Given the description of an element on the screen output the (x, y) to click on. 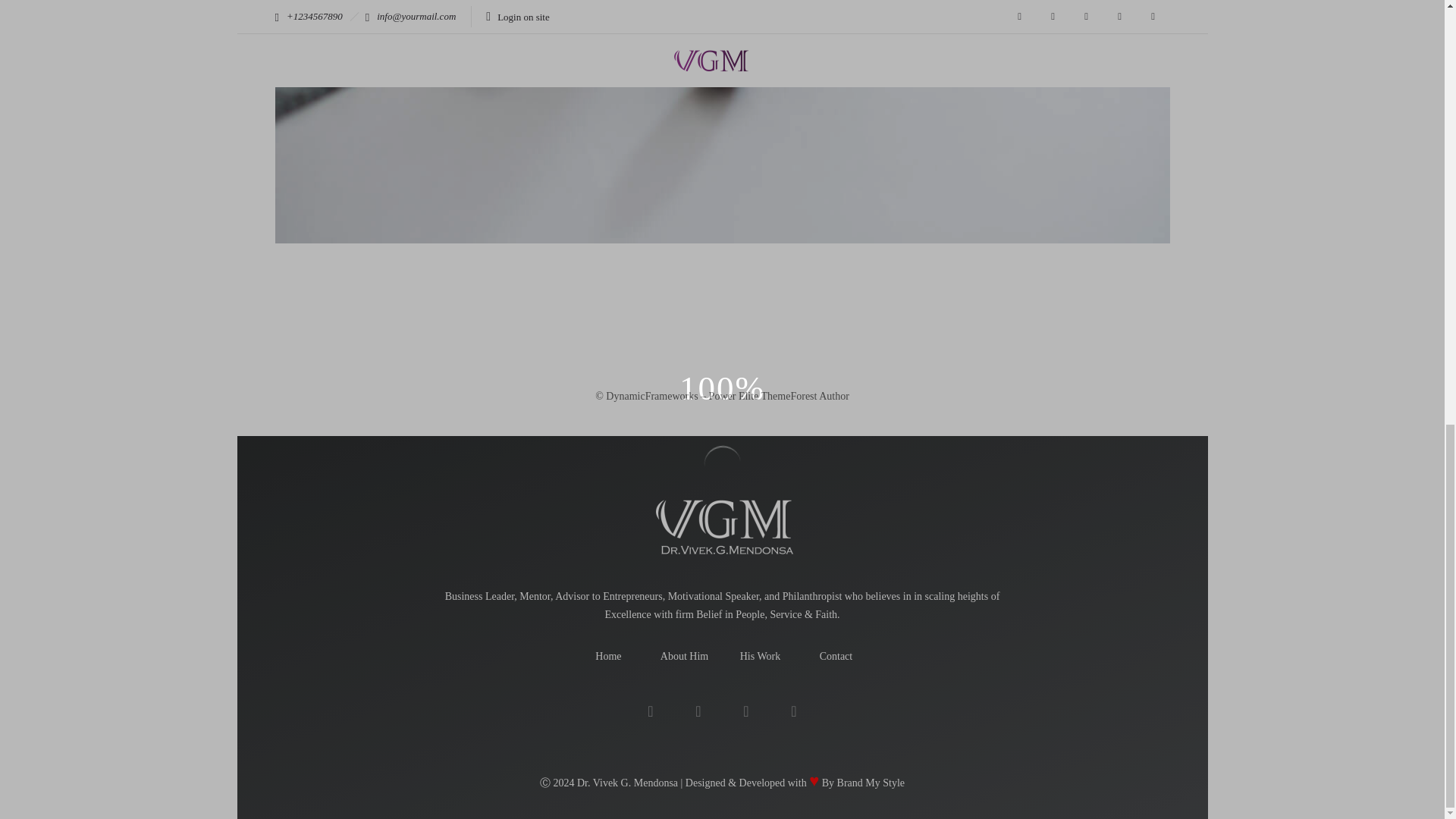
WHOLESALE BUYERS (486, 303)
His Work (759, 655)
WARRANTY AND RETURN (836, 303)
SHIPPING AND PAYMENT (673, 306)
Brand My Style (870, 782)
AGREEMENTS (996, 303)
Contact (836, 655)
About Him (684, 655)
Home (608, 655)
